Given the description of an element on the screen output the (x, y) to click on. 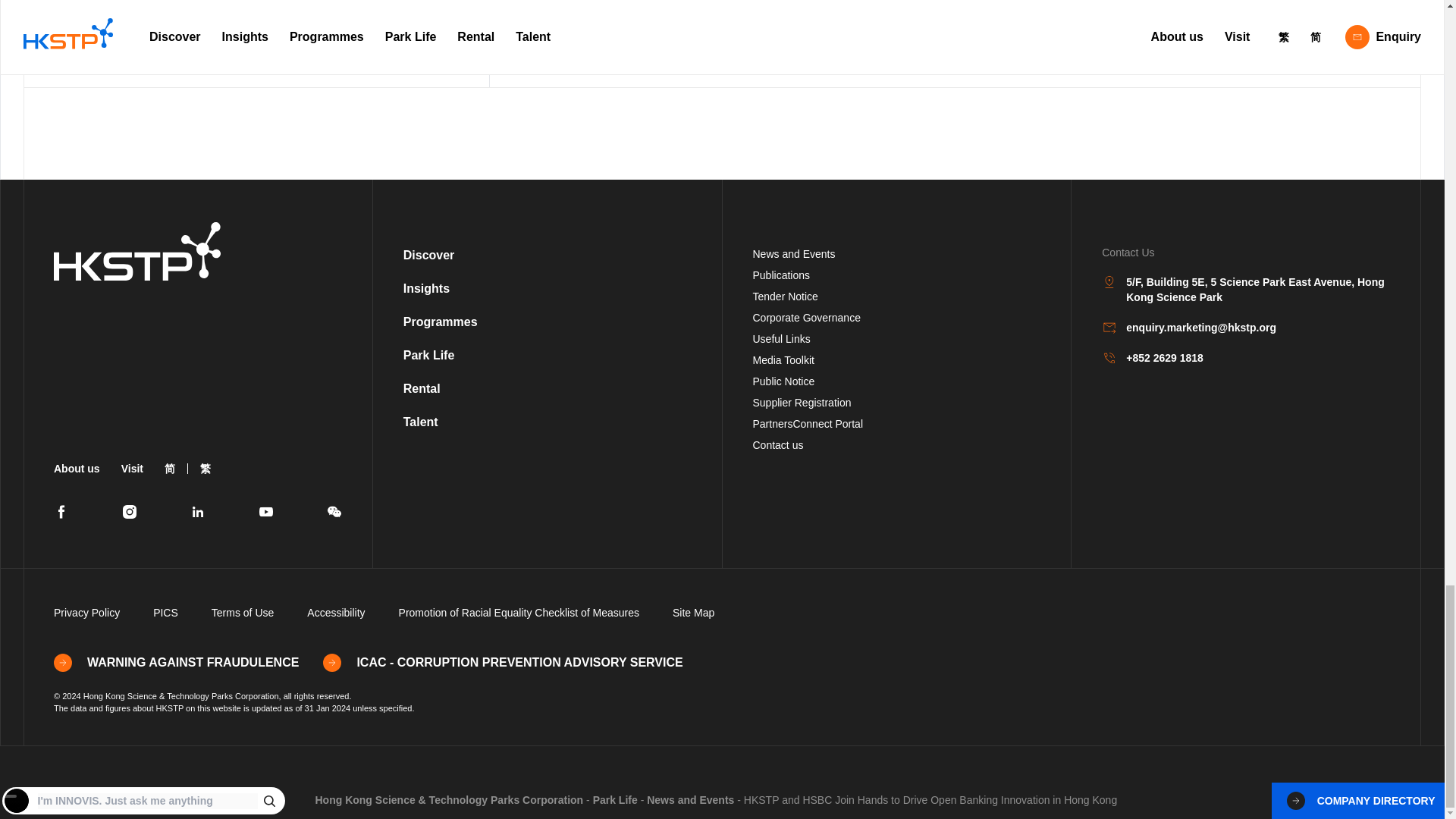
Talent (420, 421)
Park Life (428, 354)
Programmes (440, 321)
Discover (428, 254)
Visit (131, 468)
Publications (780, 275)
News and Events (793, 254)
Rental (422, 388)
Insights (426, 287)
About us (76, 468)
